Given the description of an element on the screen output the (x, y) to click on. 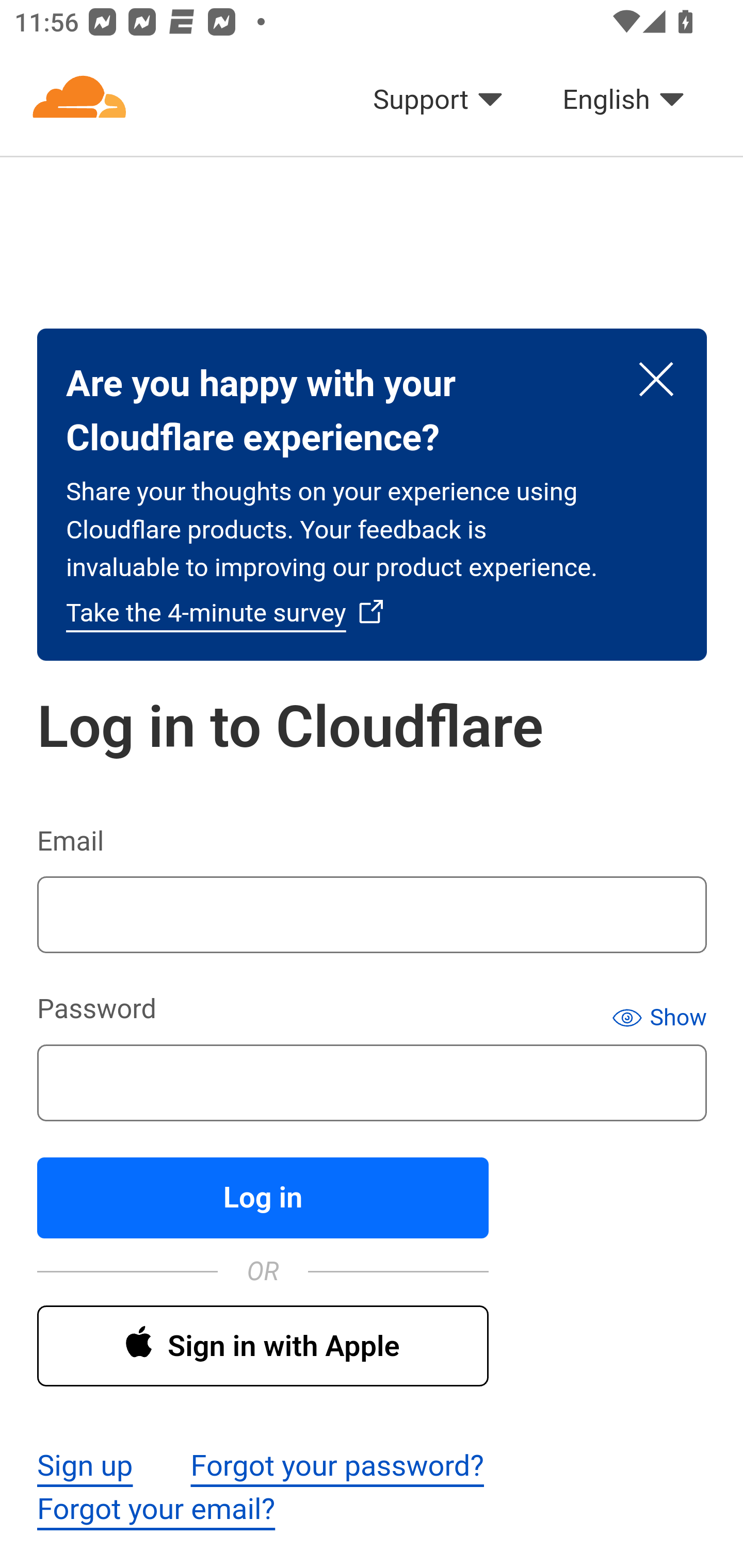
Cloudflare (79, 99)
Support (438, 99)
Selected language: English (624, 99)
Take the 4-minute survey (225, 611)
Show (659, 1017)
Log in (262, 1197)
Sign in with Apple (262, 1345)
Sign up (84, 1466)
Forgot your password? (336, 1466)
Forgot your email? (156, 1509)
